Given the description of an element on the screen output the (x, y) to click on. 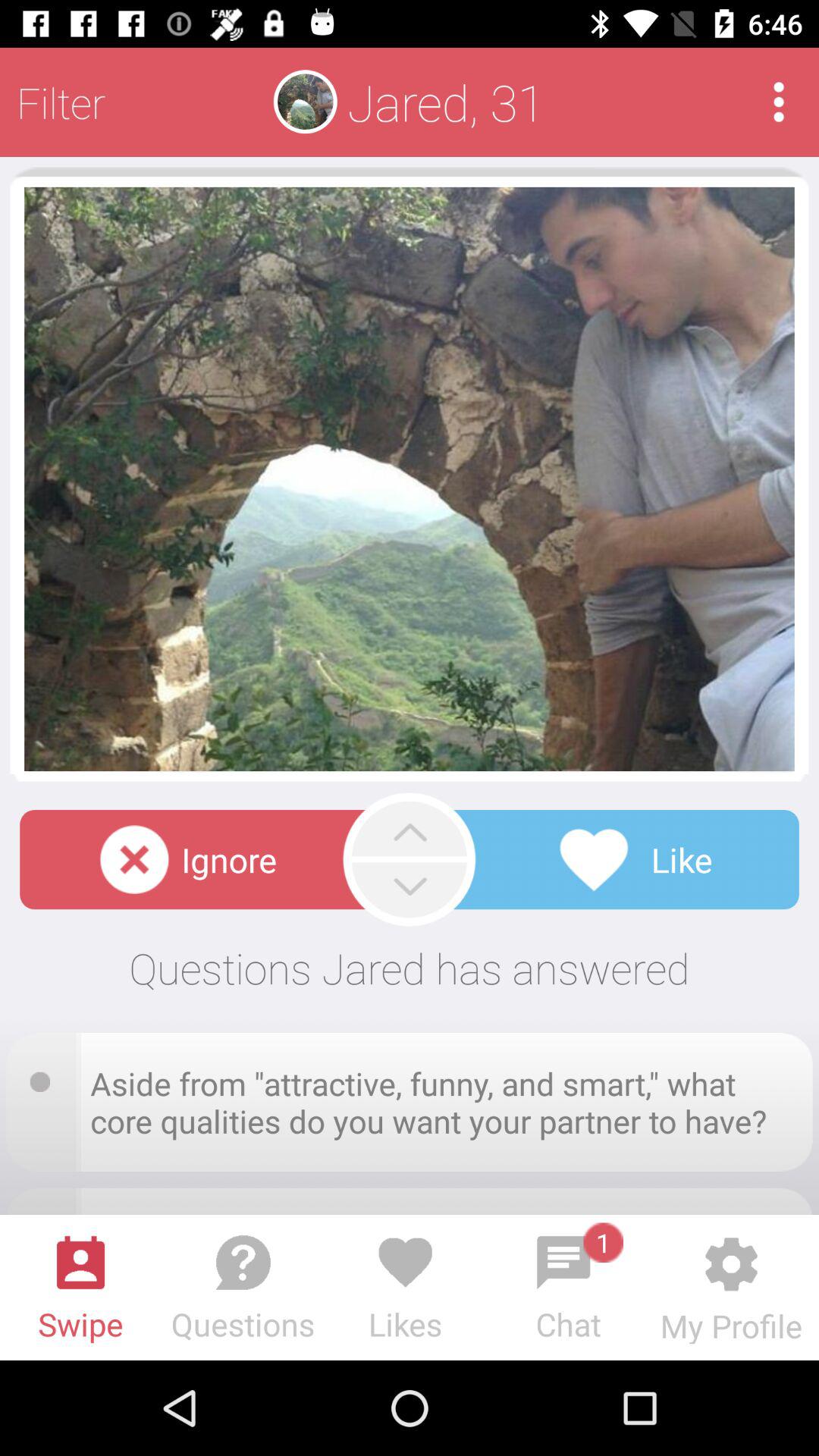
tap the more option (778, 101)
